Given the description of an element on the screen output the (x, y) to click on. 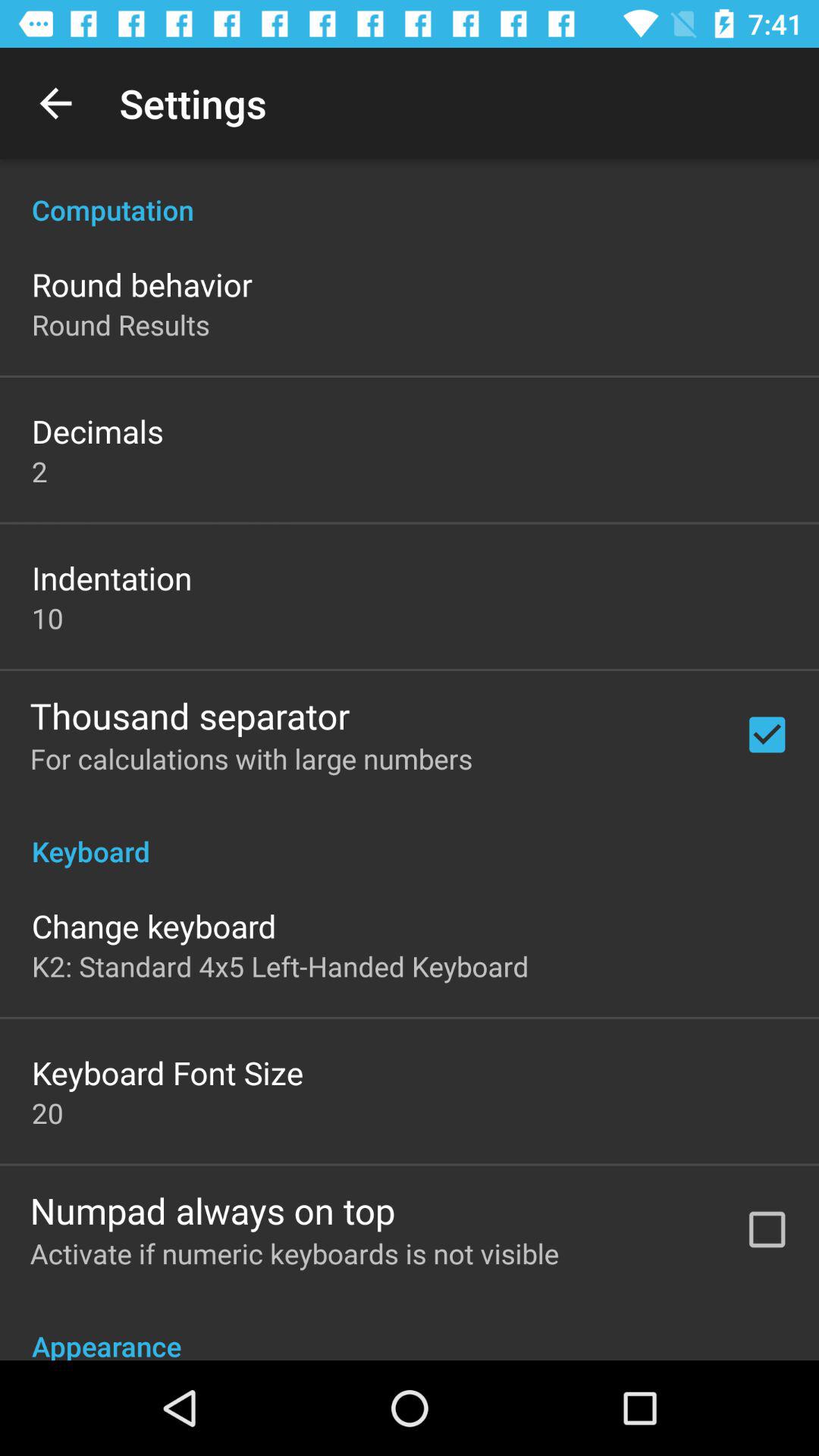
turn on the item above the 20 icon (167, 1072)
